Given the description of an element on the screen output the (x, y) to click on. 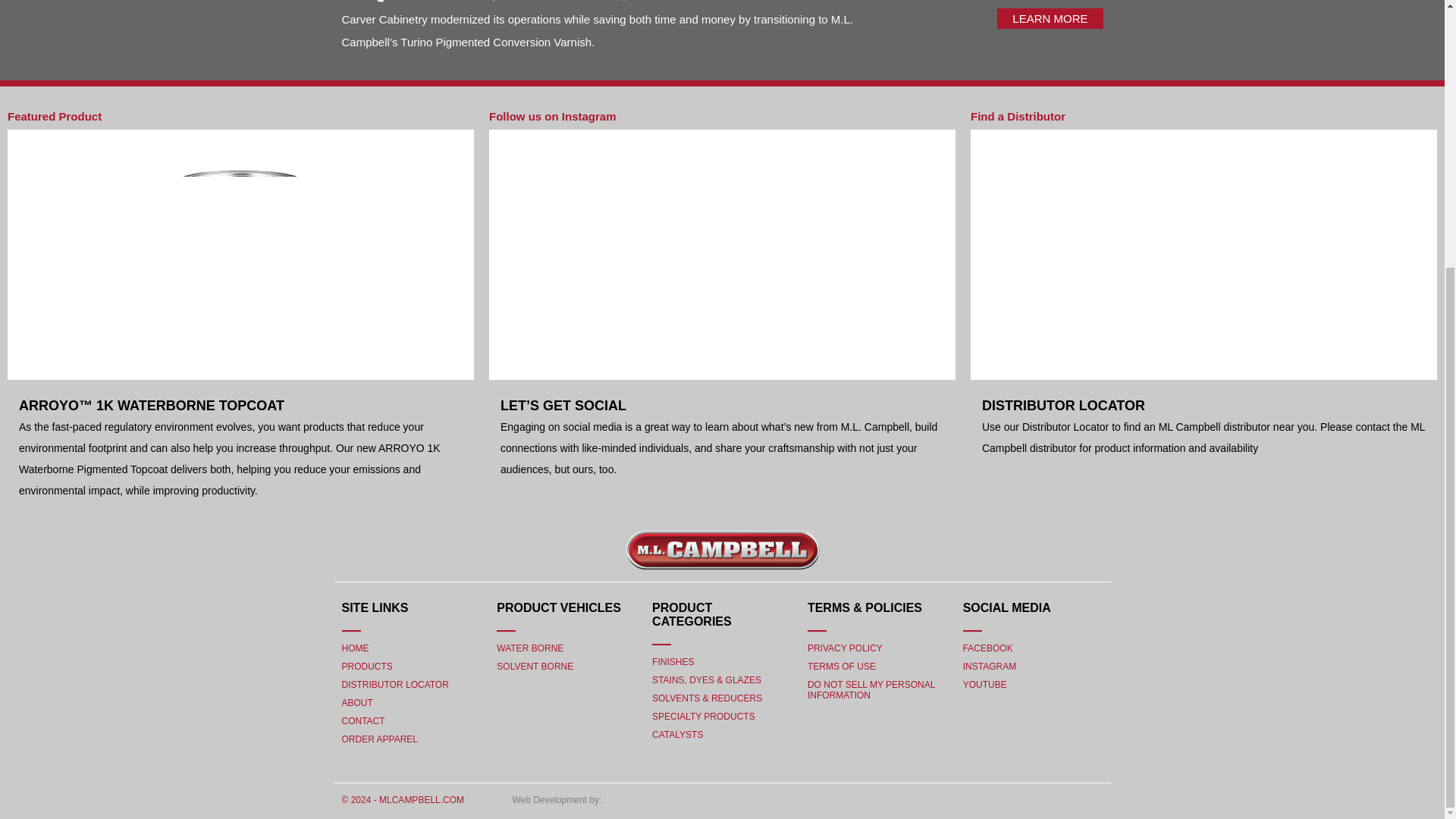
WATER BORNE (566, 647)
DISTRIBUTOR LOCATOR (410, 683)
SPECIALTY PRODUCTS (722, 715)
instagram (1032, 665)
ABOUT (410, 701)
HOME (410, 647)
FINISHES (722, 660)
PRODUCTS (410, 665)
ORDER APPAREL (410, 738)
CONTACT (410, 720)
SOLVENT BORNE (566, 665)
LEARN MORE (1049, 18)
